Given the description of an element on the screen output the (x, y) to click on. 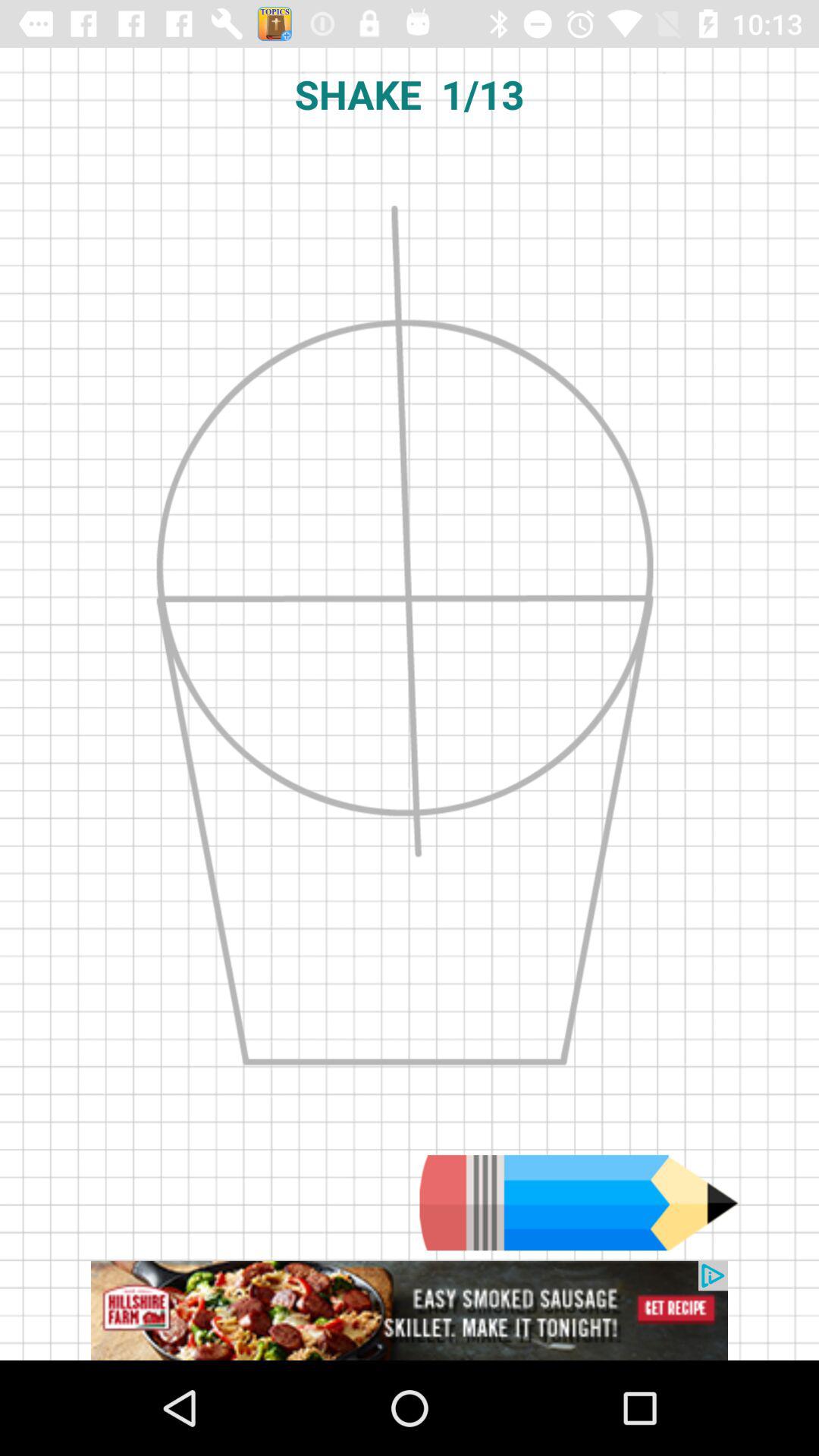
advertisement page (409, 1310)
